Given the description of an element on the screen output the (x, y) to click on. 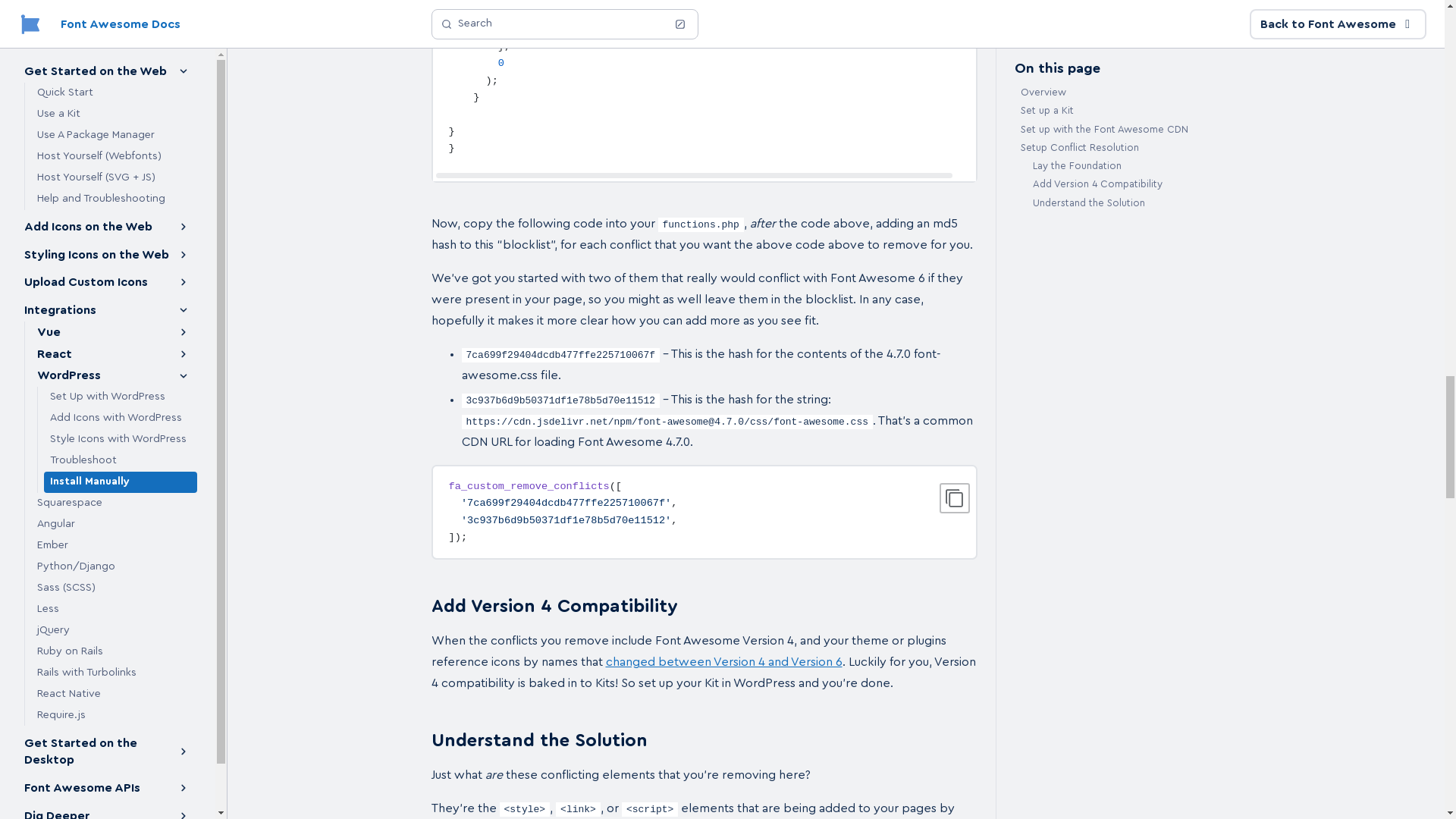
Copy to clipboard (954, 498)
